Given the description of an element on the screen output the (x, y) to click on. 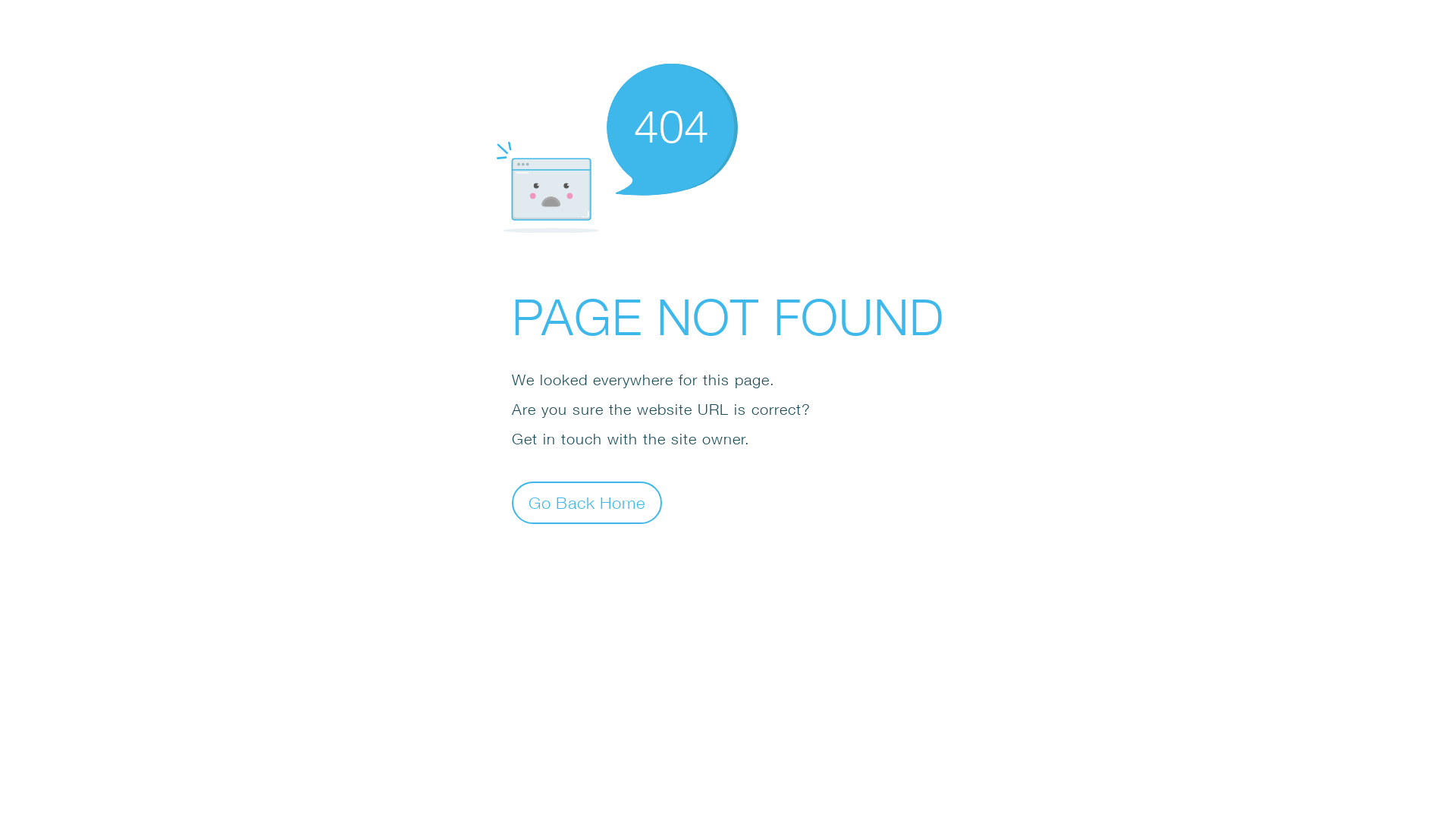
Go Back Home Element type: text (586, 502)
